Given the description of an element on the screen output the (x, y) to click on. 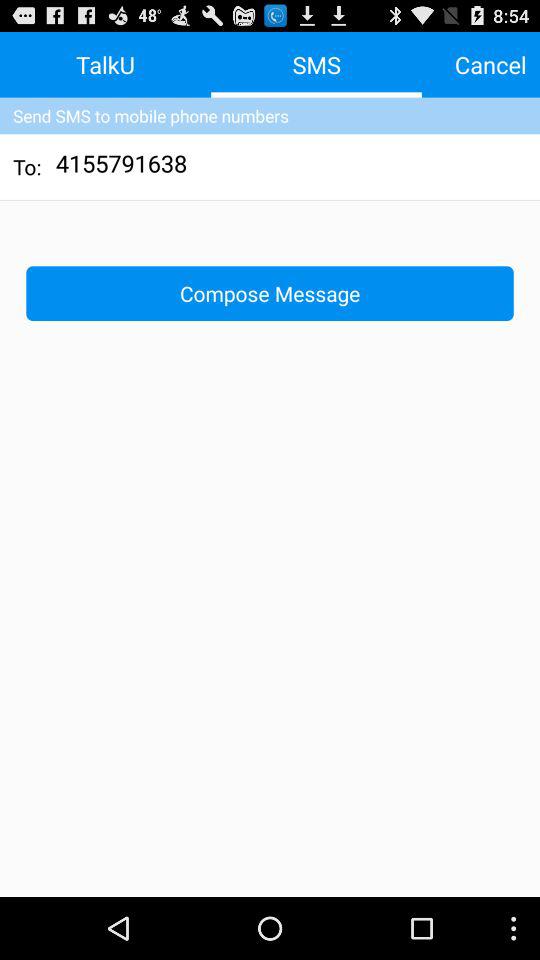
jump to the cancel button (490, 64)
